Given the description of an element on the screen output the (x, y) to click on. 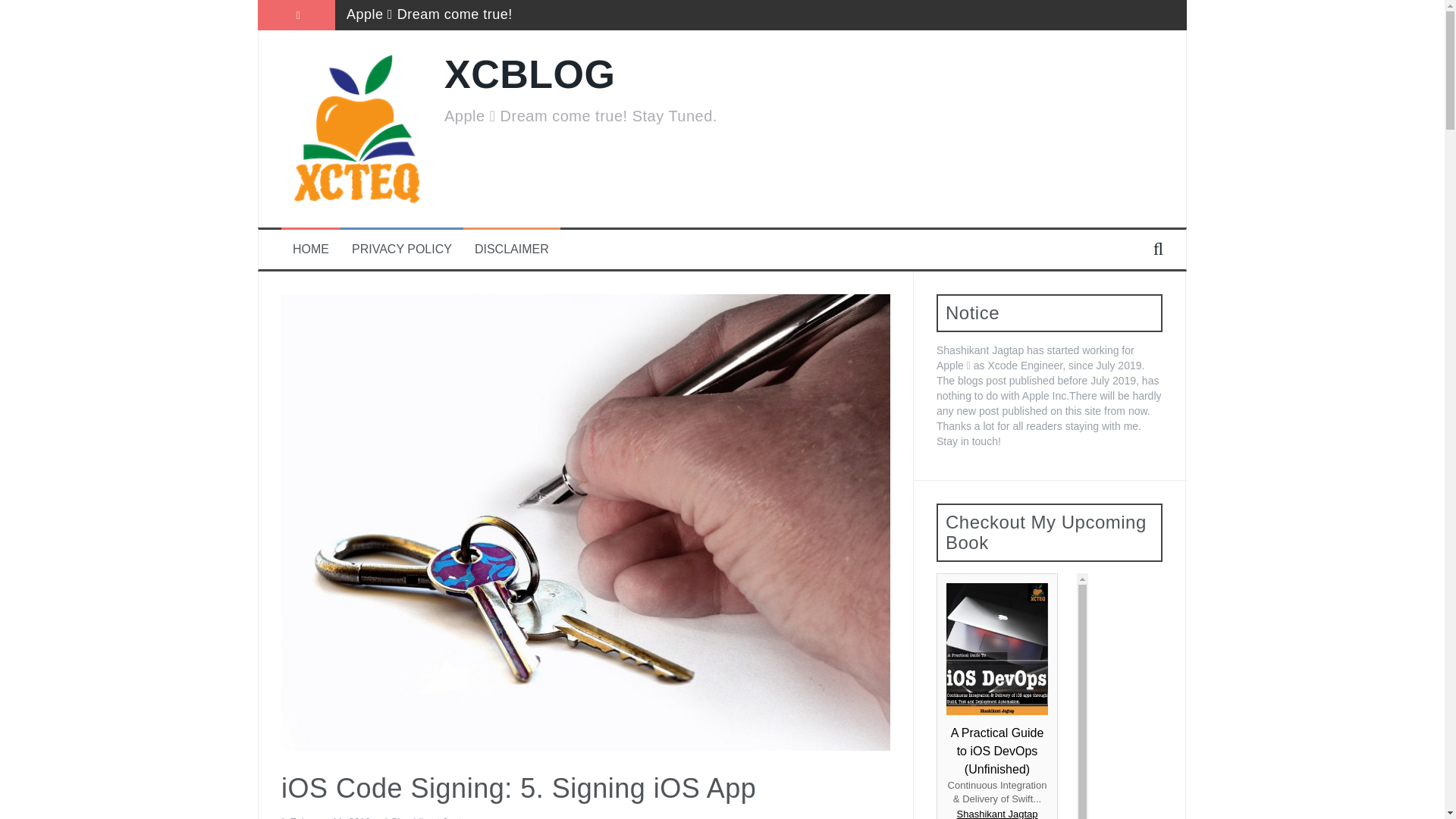
HOME (310, 249)
DISCLAIMER (511, 249)
February 11, 2018 (329, 817)
Shashikant Jagtap (431, 817)
PRIVACY POLICY (401, 249)
XCBLOG (529, 74)
